Given the description of an element on the screen output the (x, y) to click on. 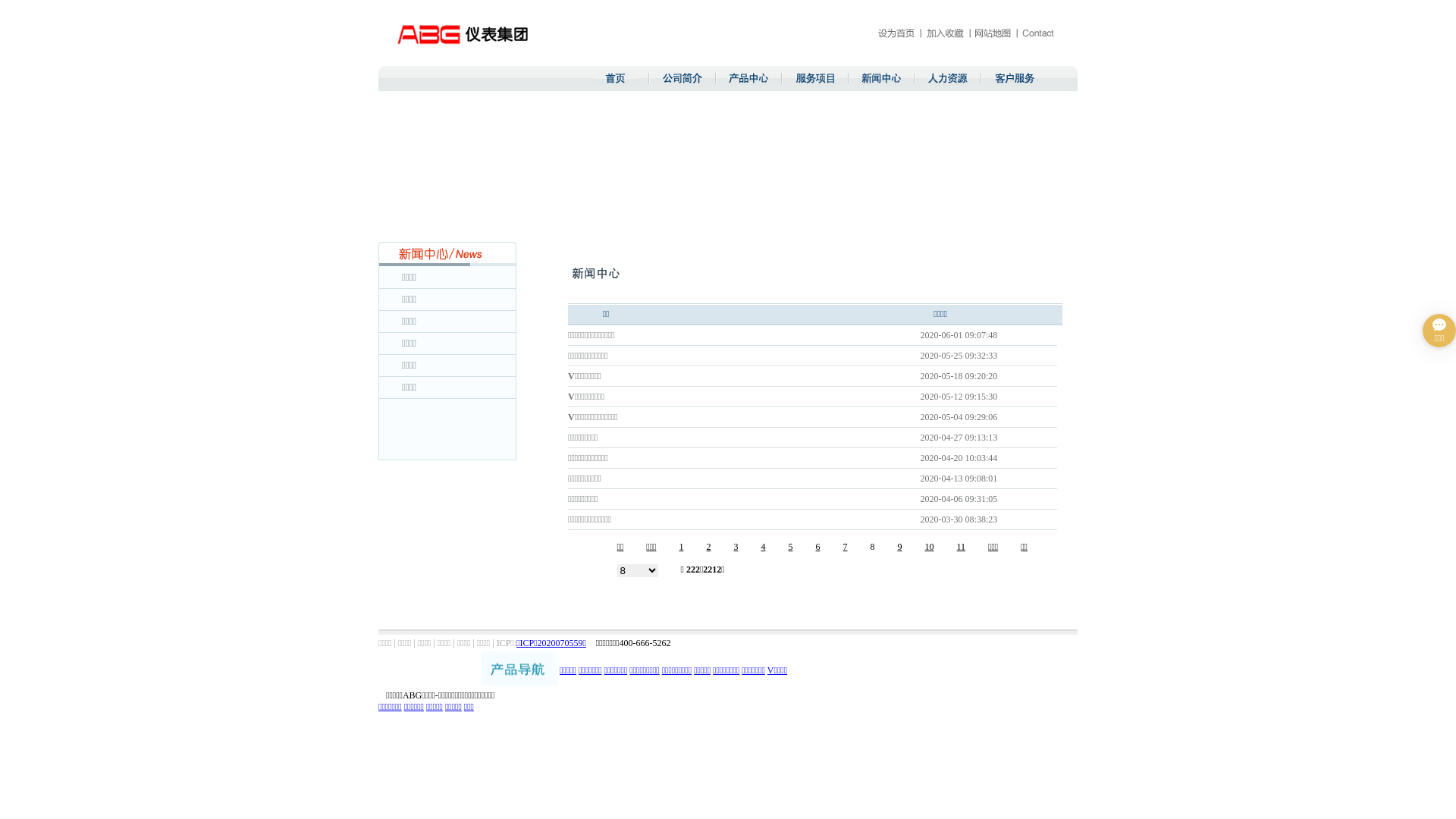
7 Element type: text (844, 546)
6 Element type: text (817, 546)
9 Element type: text (899, 546)
11 Element type: text (960, 546)
2 Element type: text (708, 546)
5 Element type: text (789, 546)
10 Element type: text (928, 546)
1 Element type: text (680, 546)
3 Element type: text (735, 546)
4 Element type: text (762, 546)
